Given the description of an element on the screen output the (x, y) to click on. 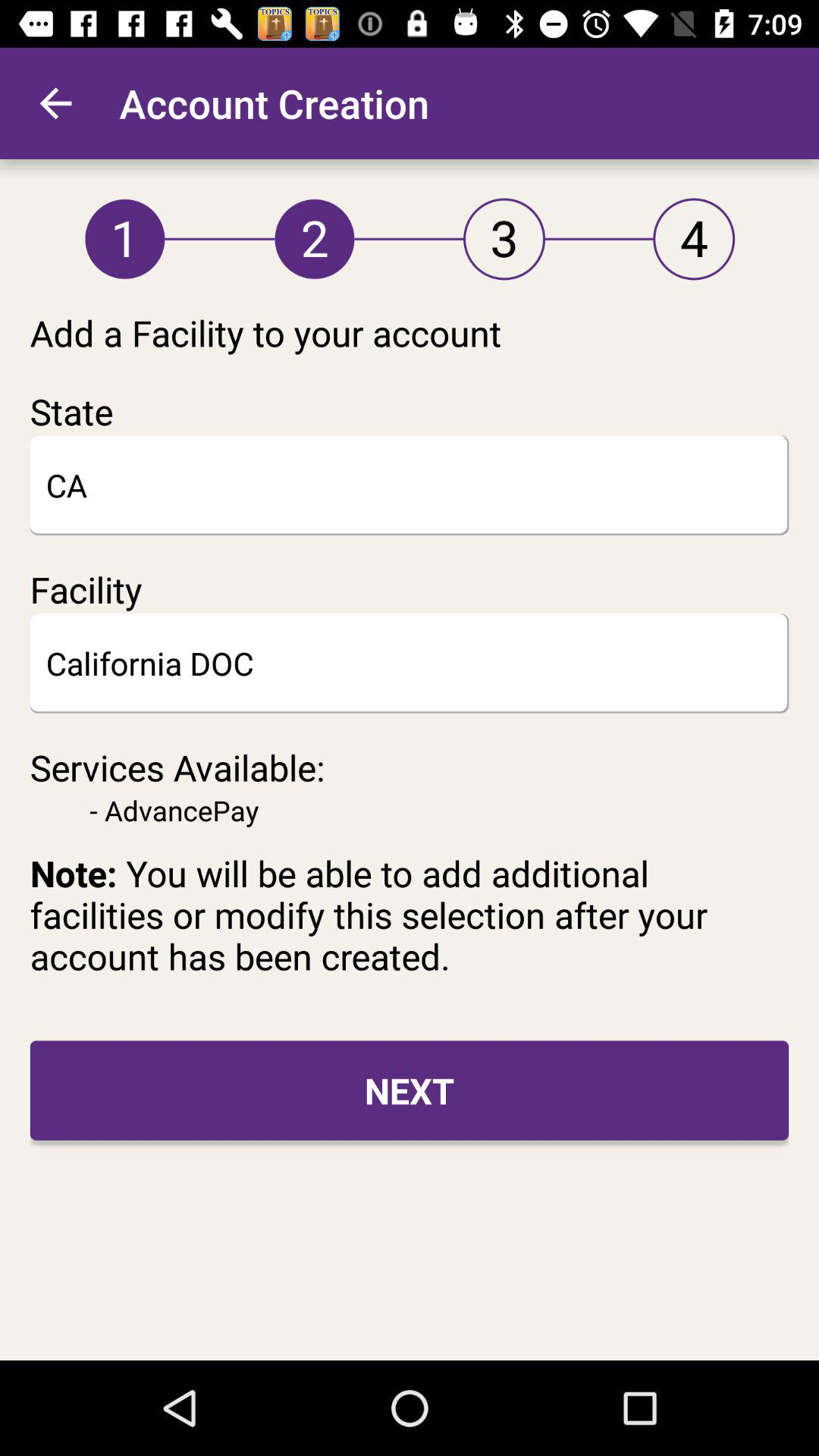
press item to the left of account creation item (55, 103)
